Given the description of an element on the screen output the (x, y) to click on. 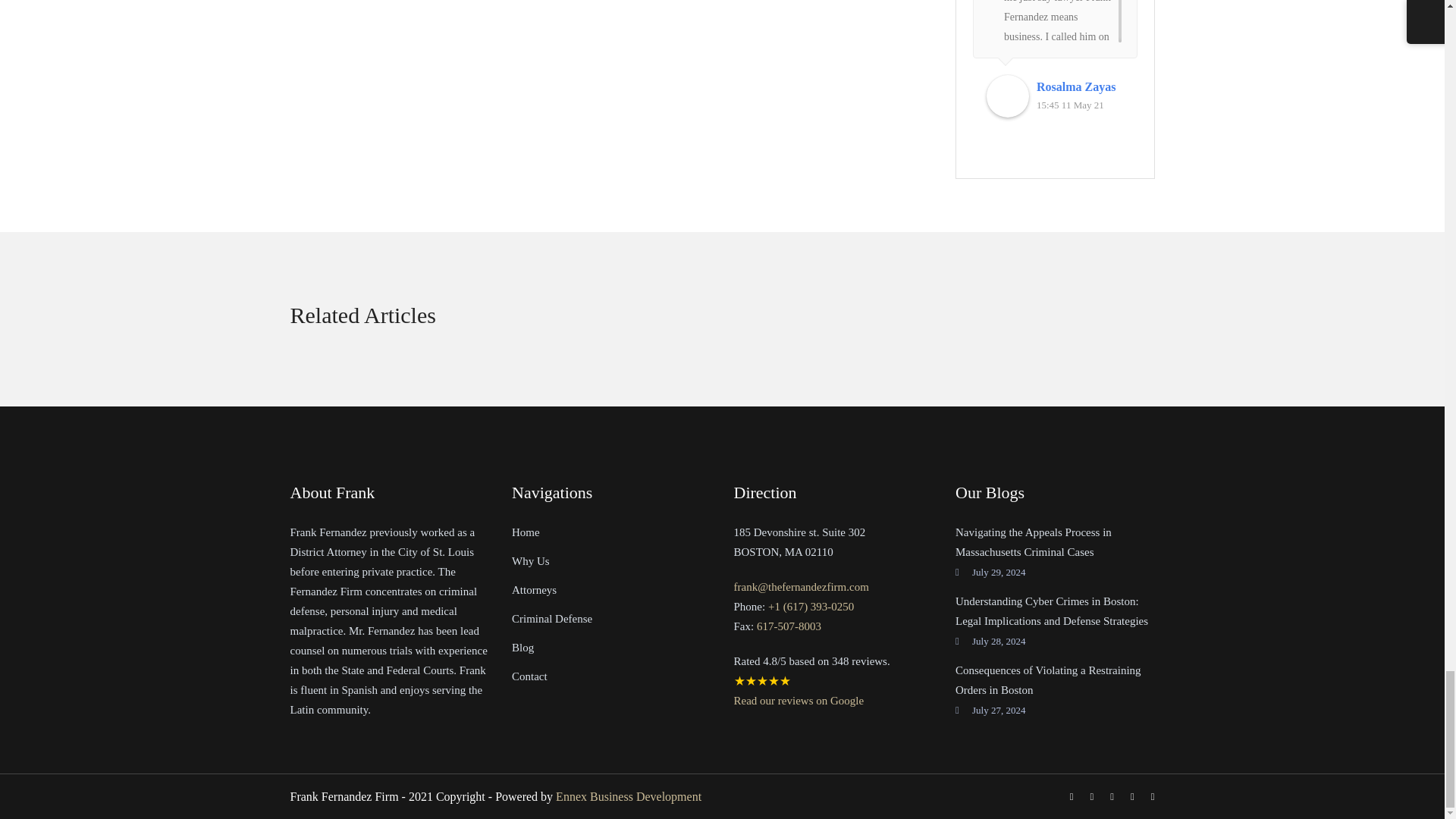
Rosalma Zayas (1008, 96)
Rosalma Zayas (1080, 86)
